Given the description of an element on the screen output the (x, y) to click on. 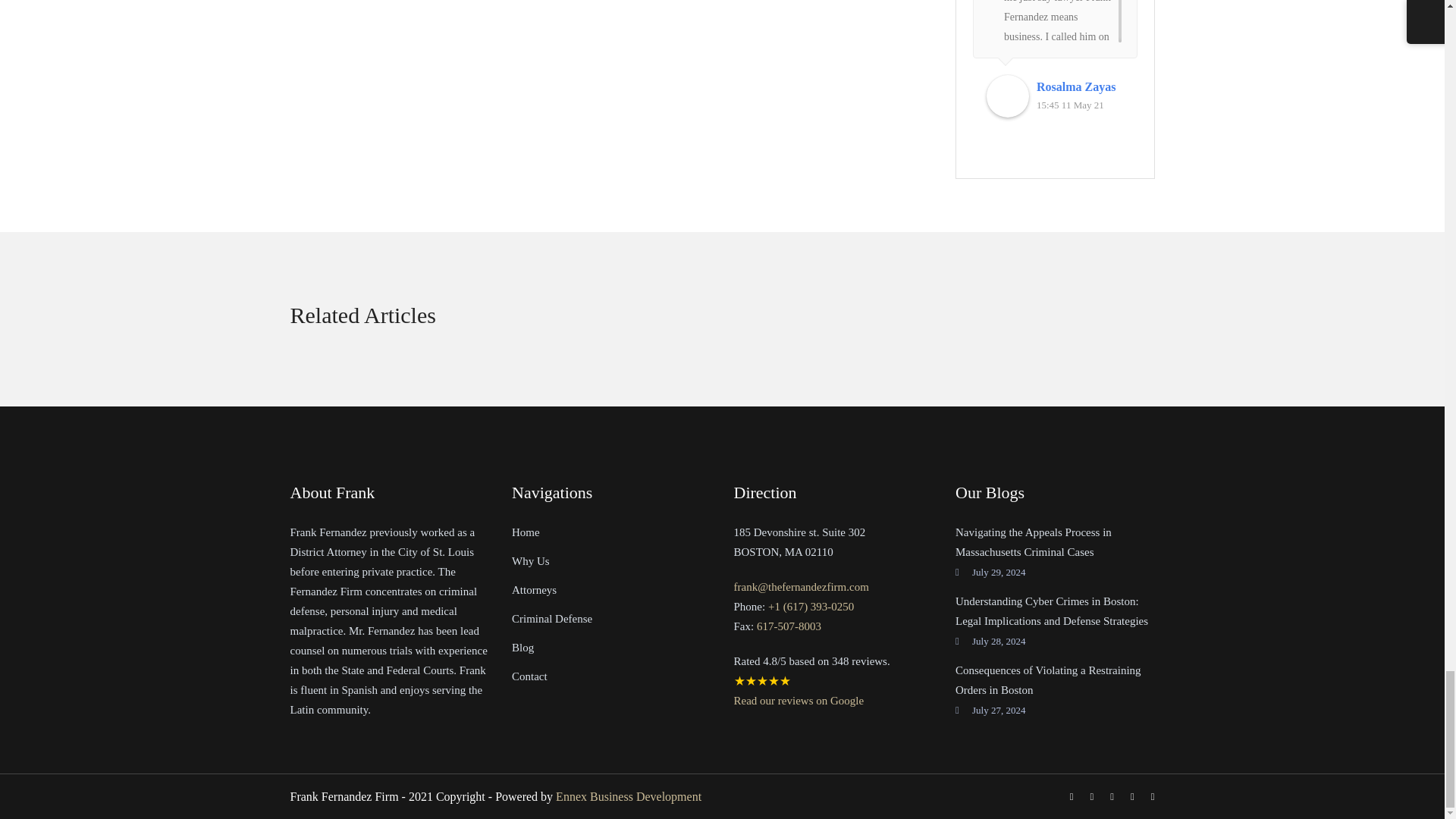
Rosalma Zayas (1008, 96)
Rosalma Zayas (1080, 86)
